Given the description of an element on the screen output the (x, y) to click on. 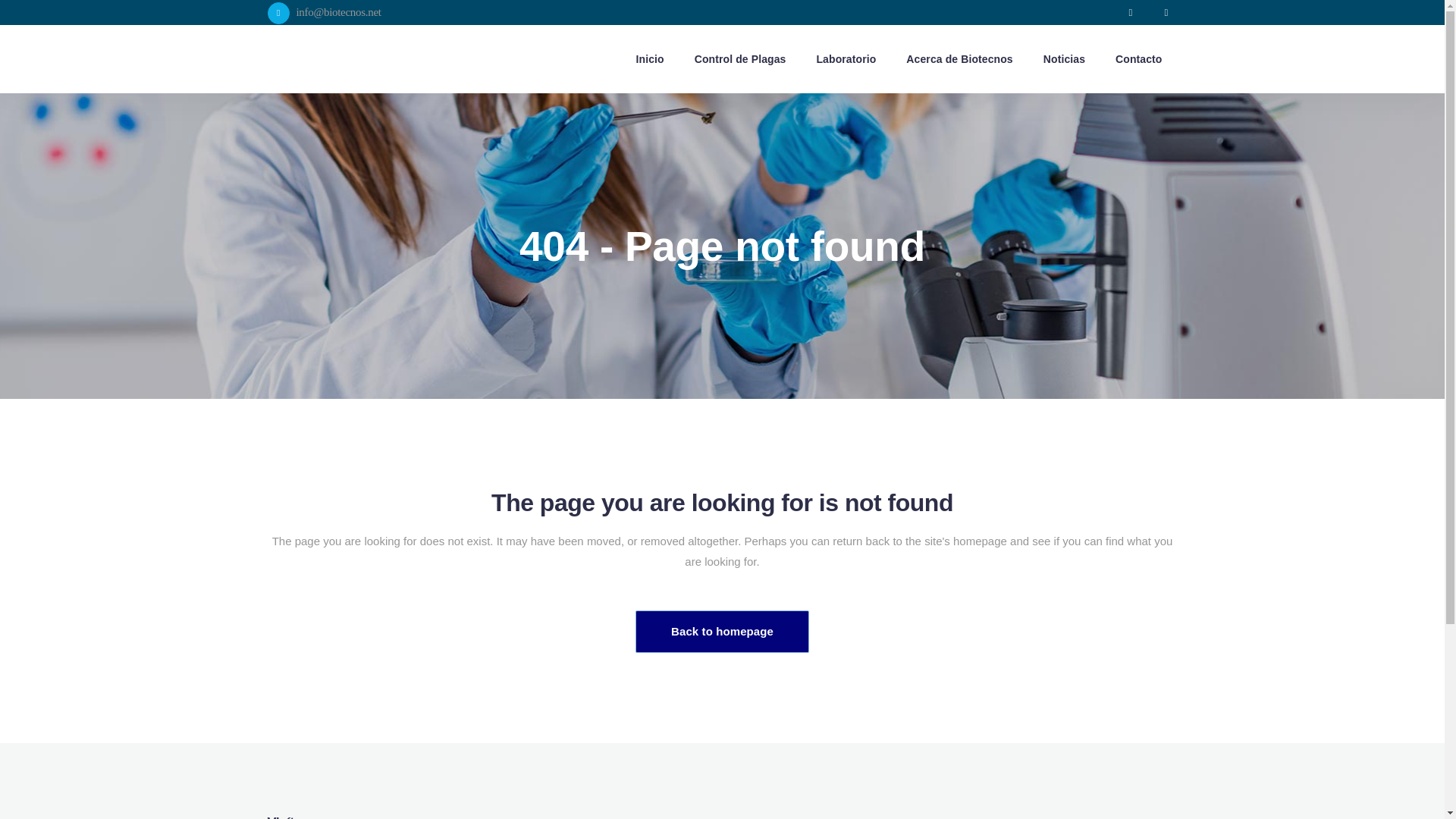
Laboratorio (845, 59)
Contacto (1138, 59)
Control de Plagas (740, 59)
Noticias (1063, 59)
Acerca de Biotecnos (959, 59)
